Given the description of an element on the screen output the (x, y) to click on. 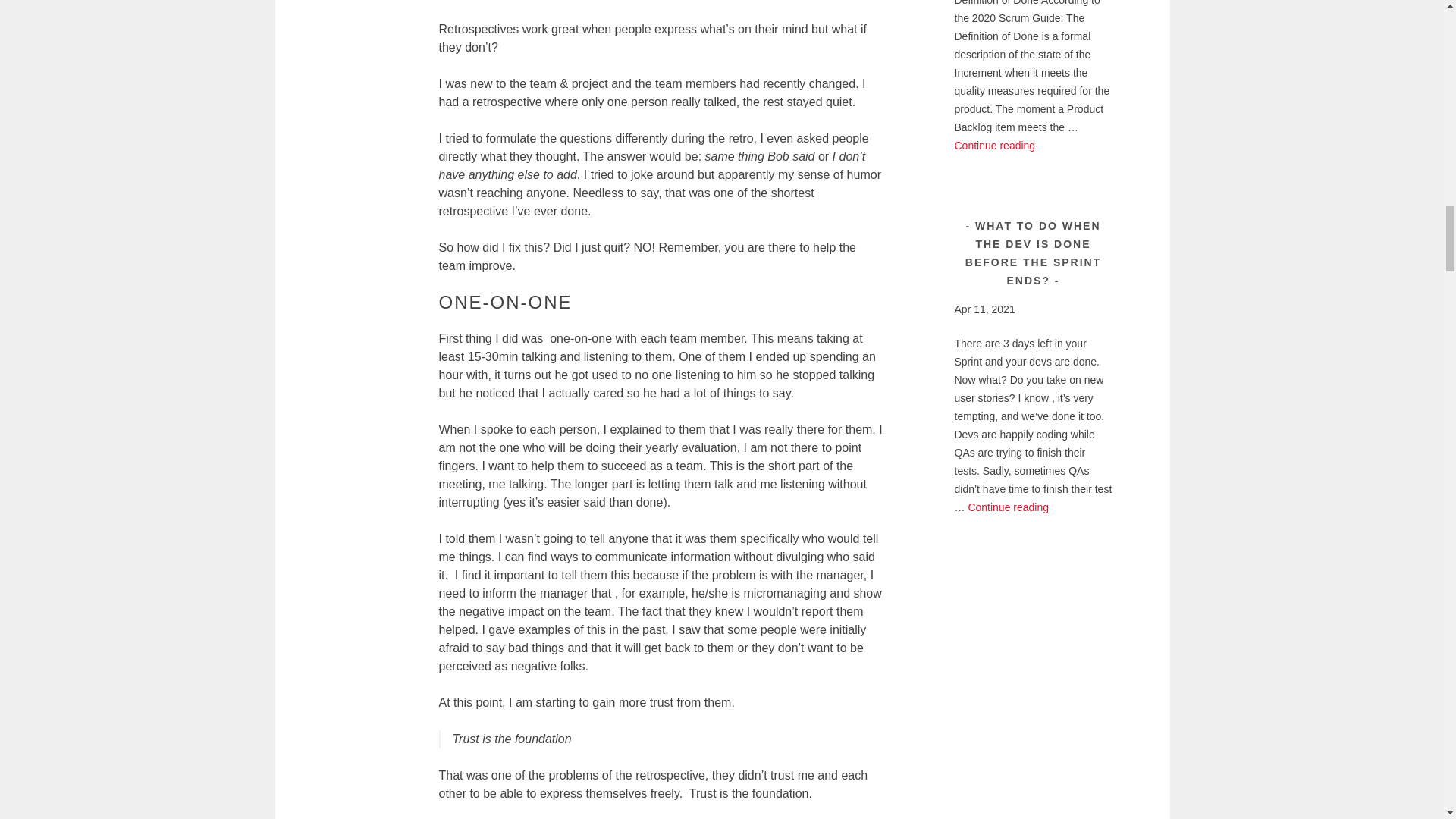
WHAT TO DO WHEN THE DEV IS DONE BEFORE THE SPRINT ENDS? (1032, 253)
